Given the description of an element on the screen output the (x, y) to click on. 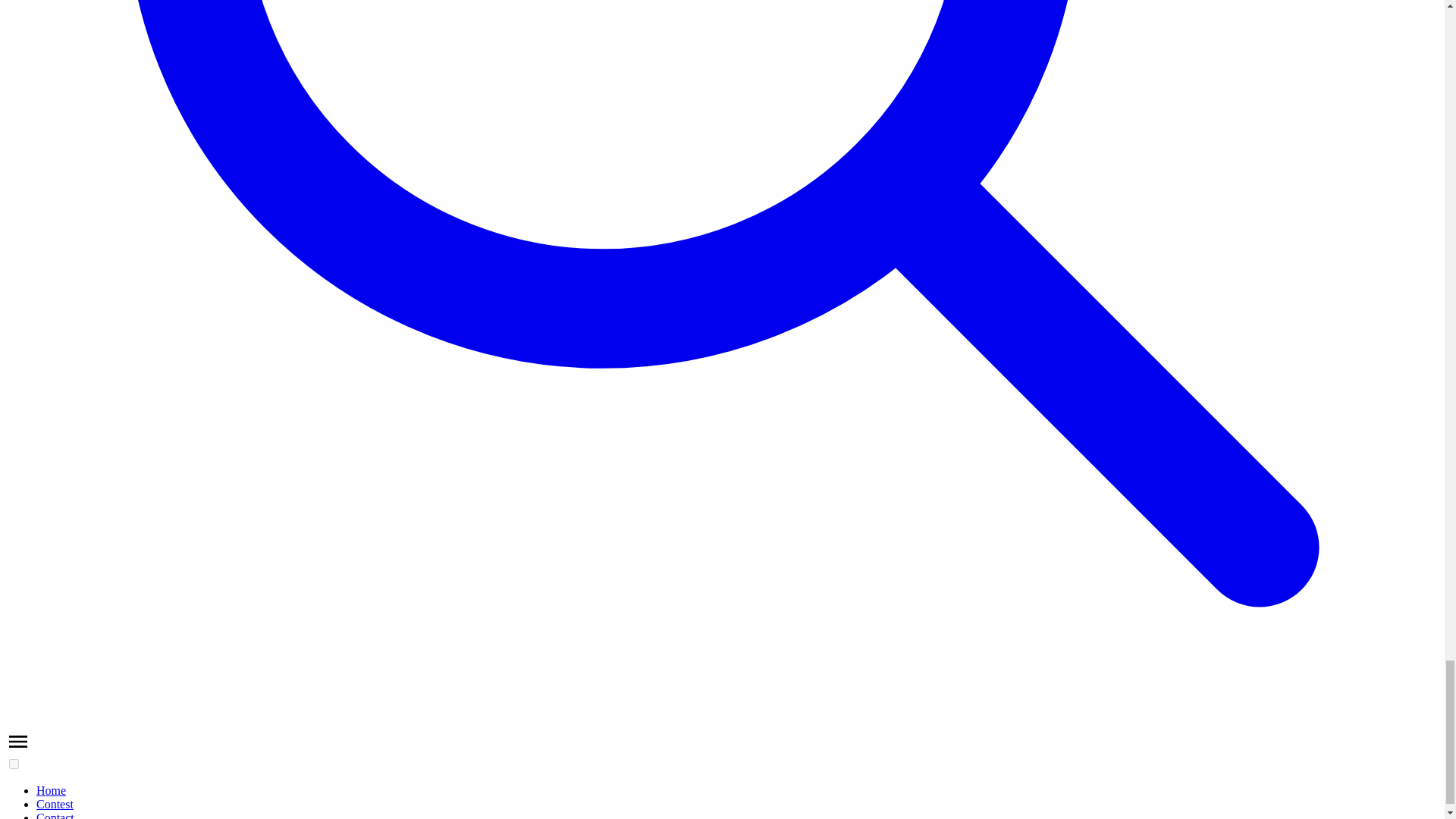
Home (50, 789)
Contest (55, 803)
on (13, 764)
